Given the description of an element on the screen output the (x, y) to click on. 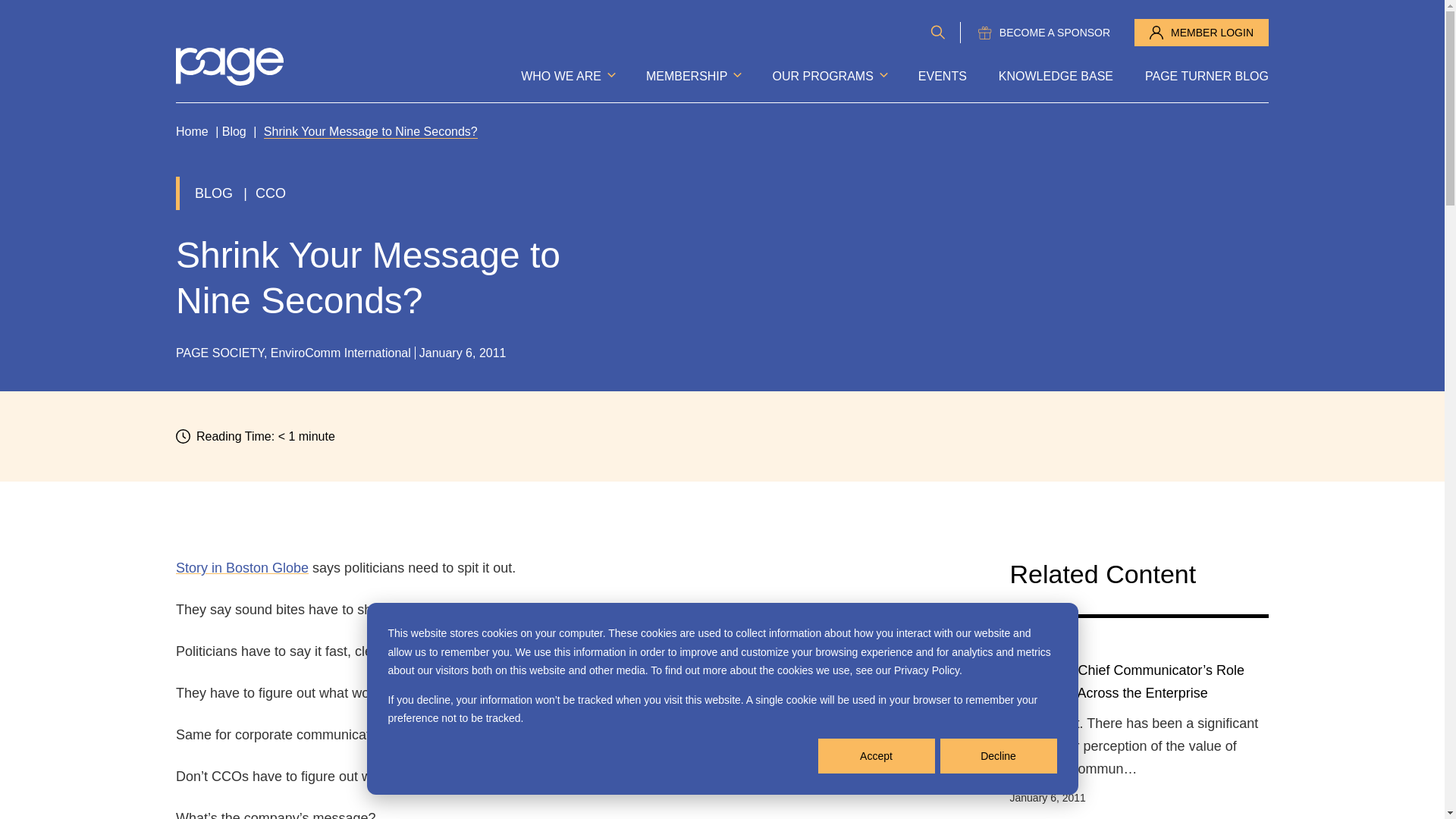
KNOWLEDGE BASE (1055, 75)
EVENTS (942, 75)
WHO WE ARE (567, 75)
Home (192, 131)
Blog (234, 131)
MEMBERSHIP (693, 75)
Story in Boston Globe (242, 567)
PAGE TURNER BLOG (1206, 75)
MEMBER LOGIN (1201, 31)
BECOME A SPONSOR (1043, 31)
OUR PROGRAMS (828, 75)
